Given the description of an element on the screen output the (x, y) to click on. 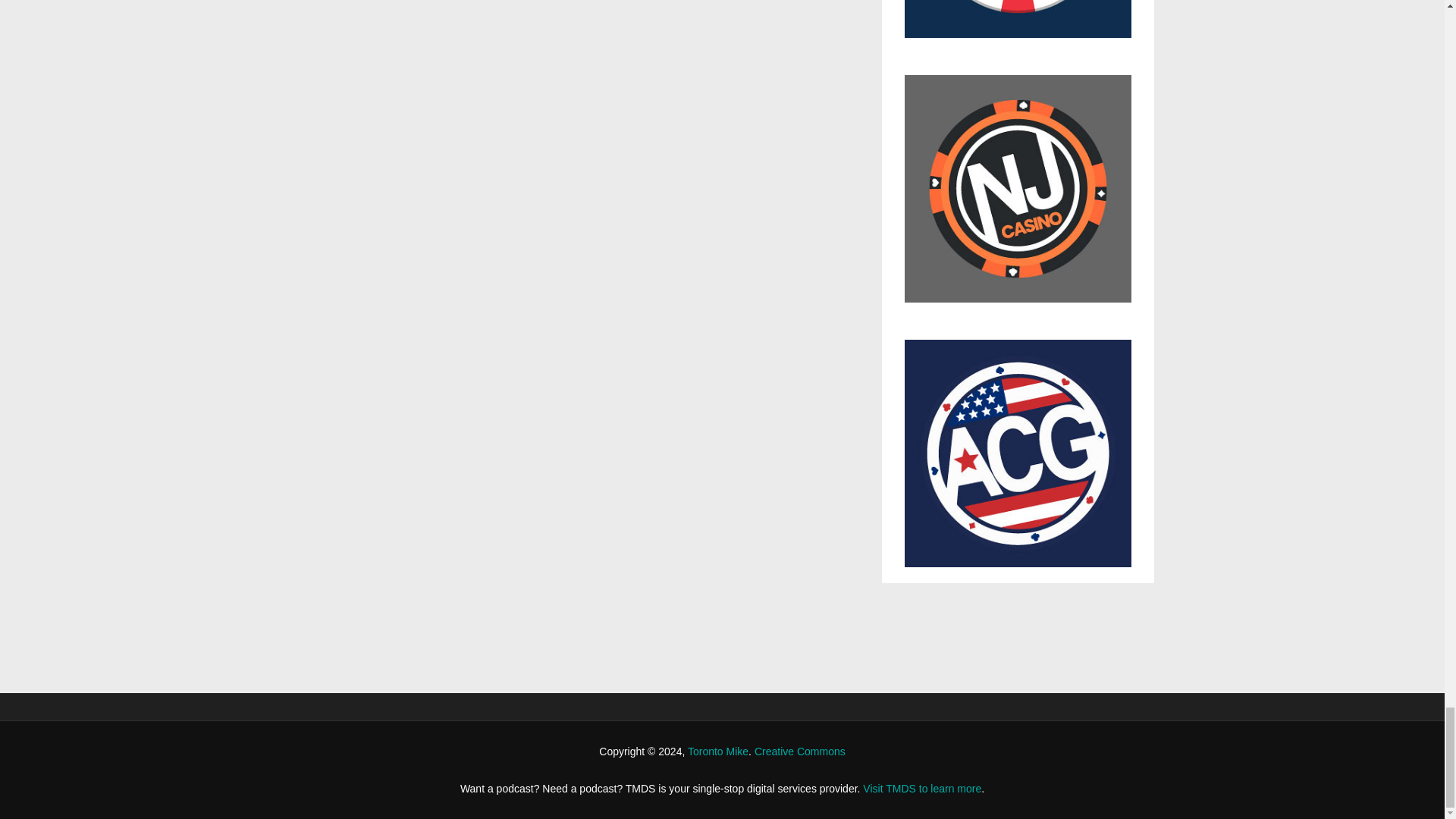
acg casino (1017, 453)
canada casino (1017, 26)
nj casino (1017, 196)
